Given the description of an element on the screen output the (x, y) to click on. 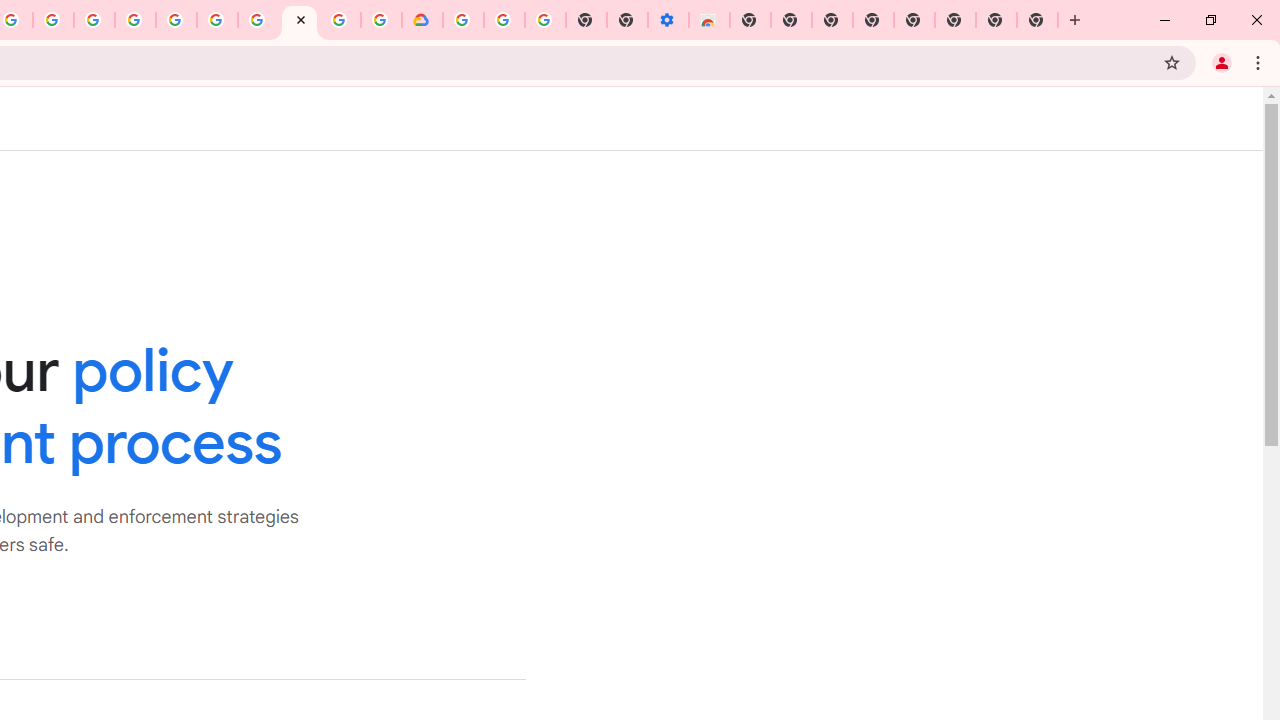
Create your Google Account (53, 20)
Google Account Help (503, 20)
Sign in - Google Accounts (176, 20)
Chrome Web Store - Accessibility extensions (708, 20)
Ad Settings (135, 20)
Google Account Help (258, 20)
Settings - Accessibility (667, 20)
Create your Google Account (340, 20)
Sign in - Google Accounts (462, 20)
Turn cookies on or off - Computer - Google Account Help (544, 20)
